Given the description of an element on the screen output the (x, y) to click on. 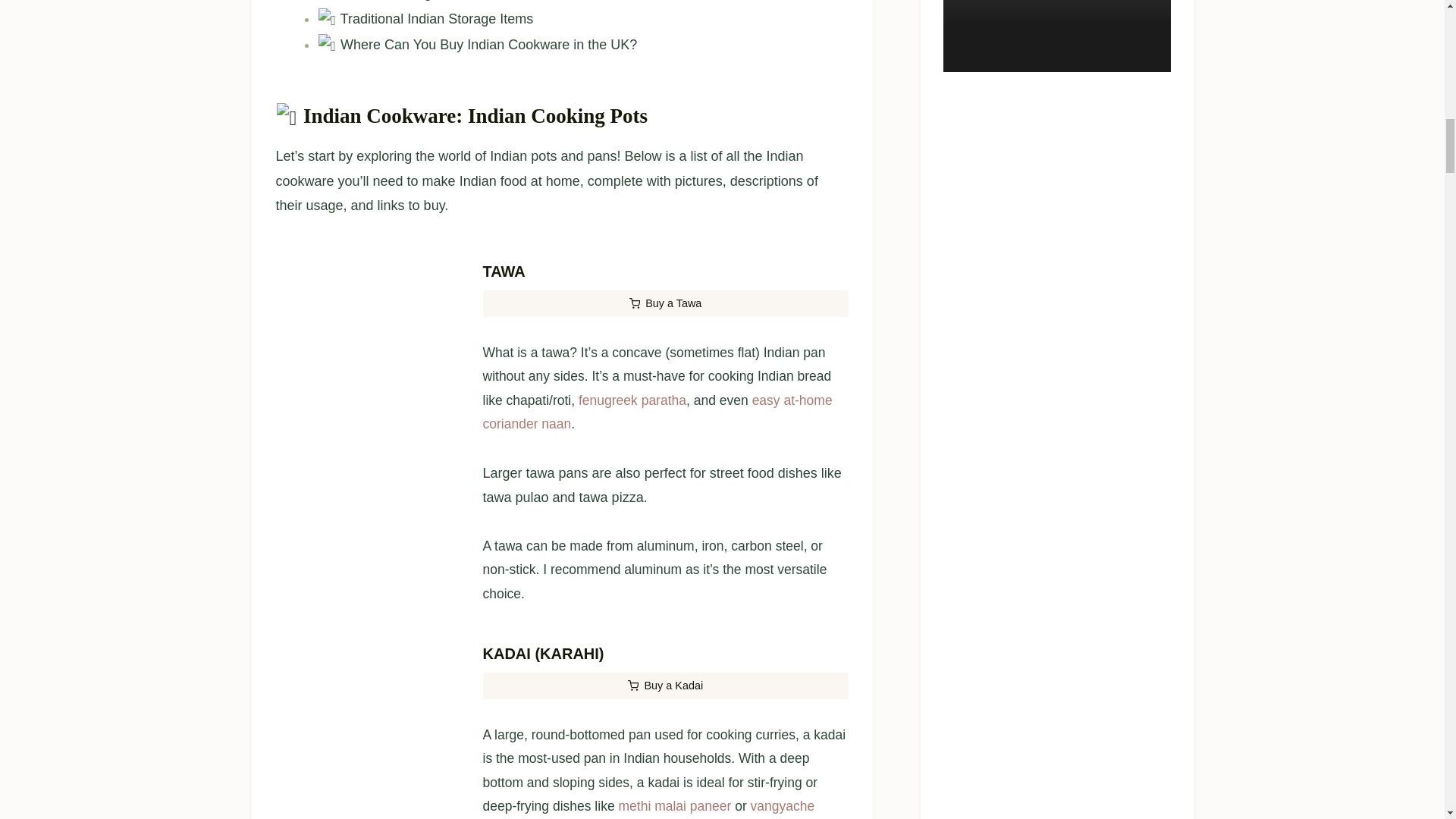
easy at-home coriander naan (656, 546)
fenugreek paratha (631, 534)
Buy a Tawa (664, 438)
Buy a Kadai (664, 812)
